Given the description of an element on the screen output the (x, y) to click on. 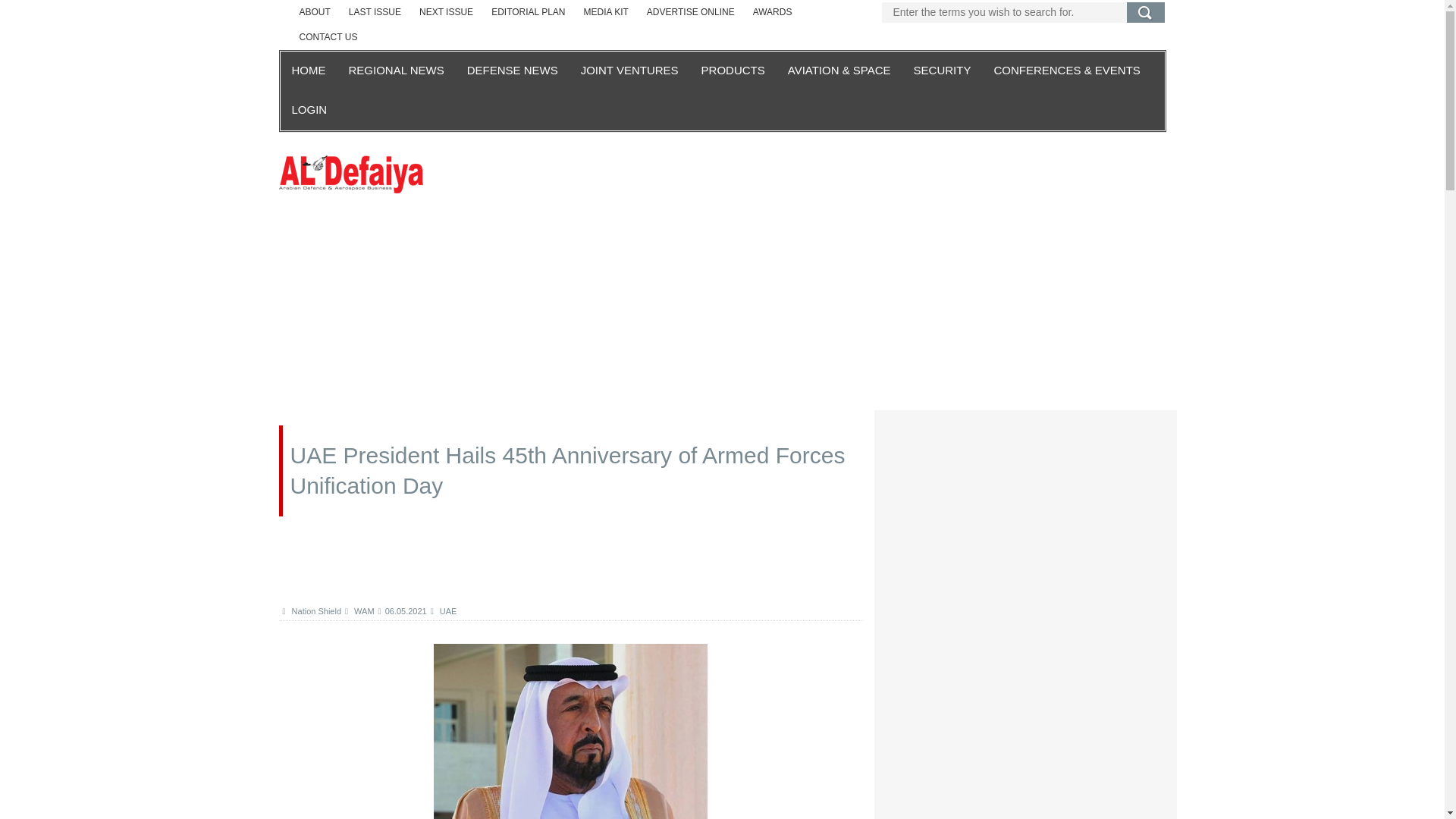
REGIONAL NEWS (395, 70)
CONTACT US (327, 37)
AWARDS (773, 12)
NEXT ISSUE (445, 12)
WAM (359, 610)
Nation Shield (311, 610)
LAST ISSUE (374, 12)
Search (1145, 12)
EDITORIAL PLAN (527, 12)
PRODUCTS (733, 70)
